Given the description of an element on the screen output the (x, y) to click on. 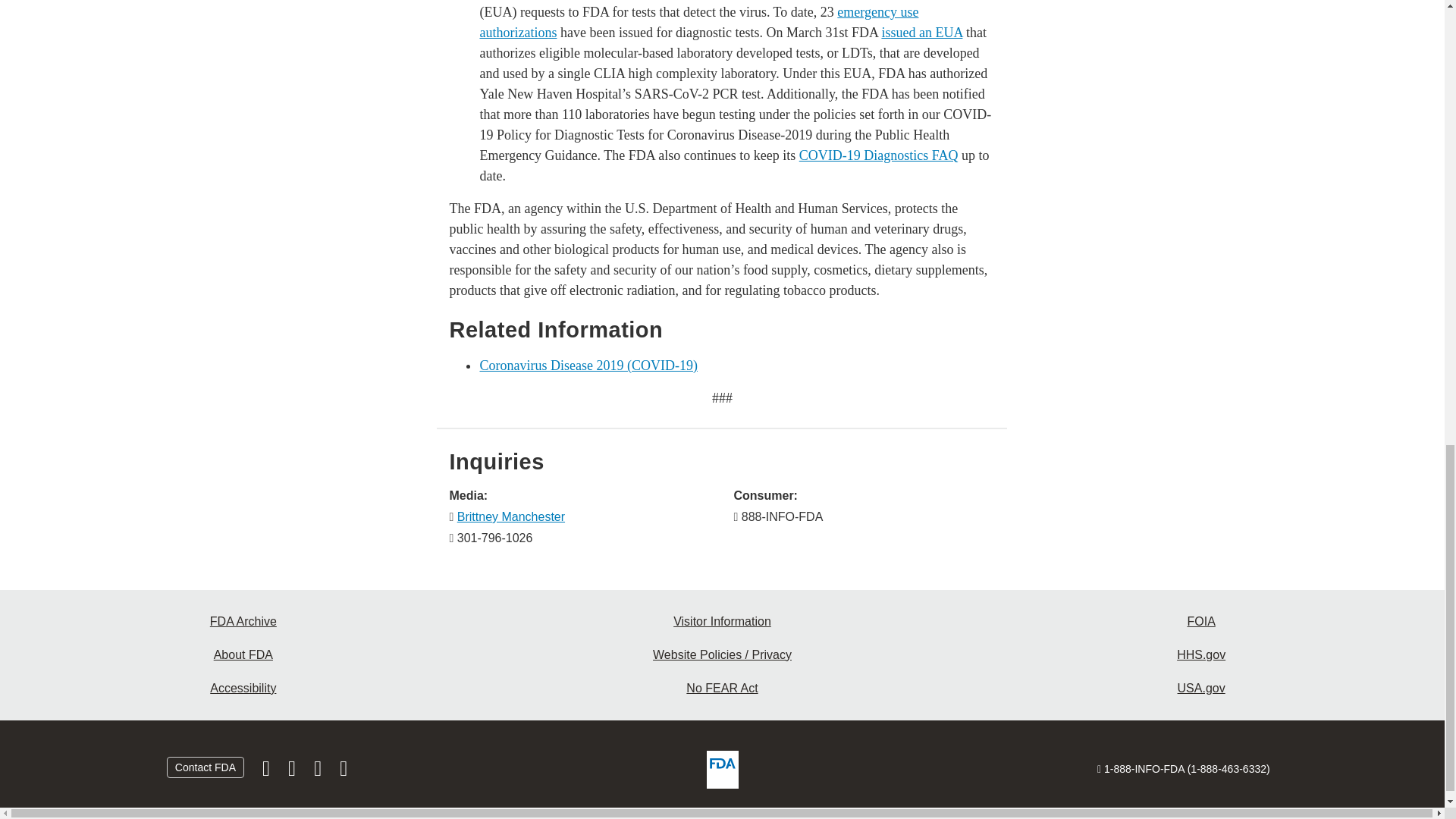
Subscribe to FDA RSS feeds (343, 771)
FAQs on Testing for SARS-CoV-2 (878, 155)
View FDA videos on YouTube (318, 771)
Follow FDA on Facebook (267, 771)
Health and Human Services (1200, 654)
Follow FDA on Twitter (293, 771)
Freedom of Information Act (1200, 621)
